Given the description of an element on the screen output the (x, y) to click on. 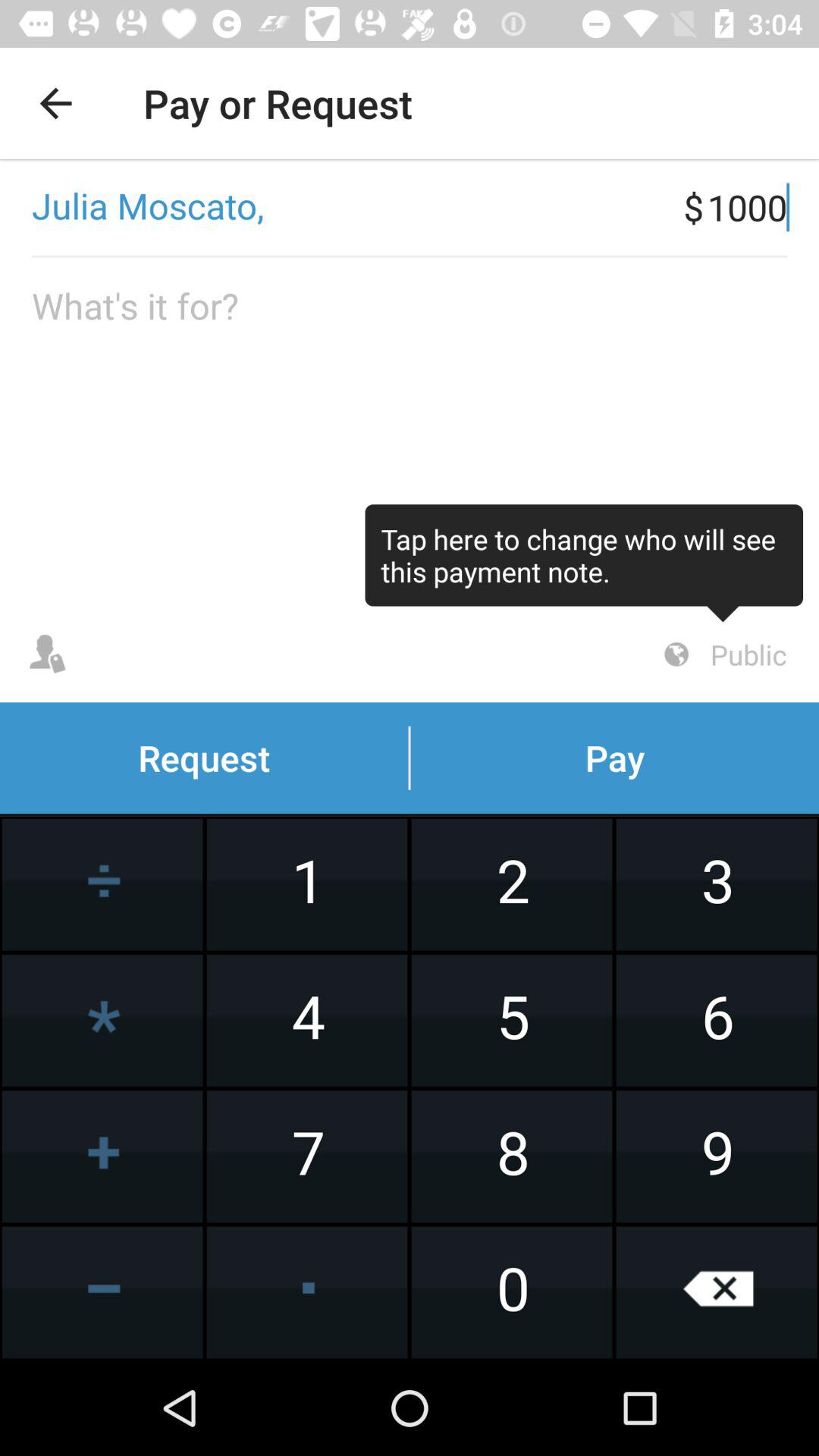
see user profile (47, 654)
